Given the description of an element on the screen output the (x, y) to click on. 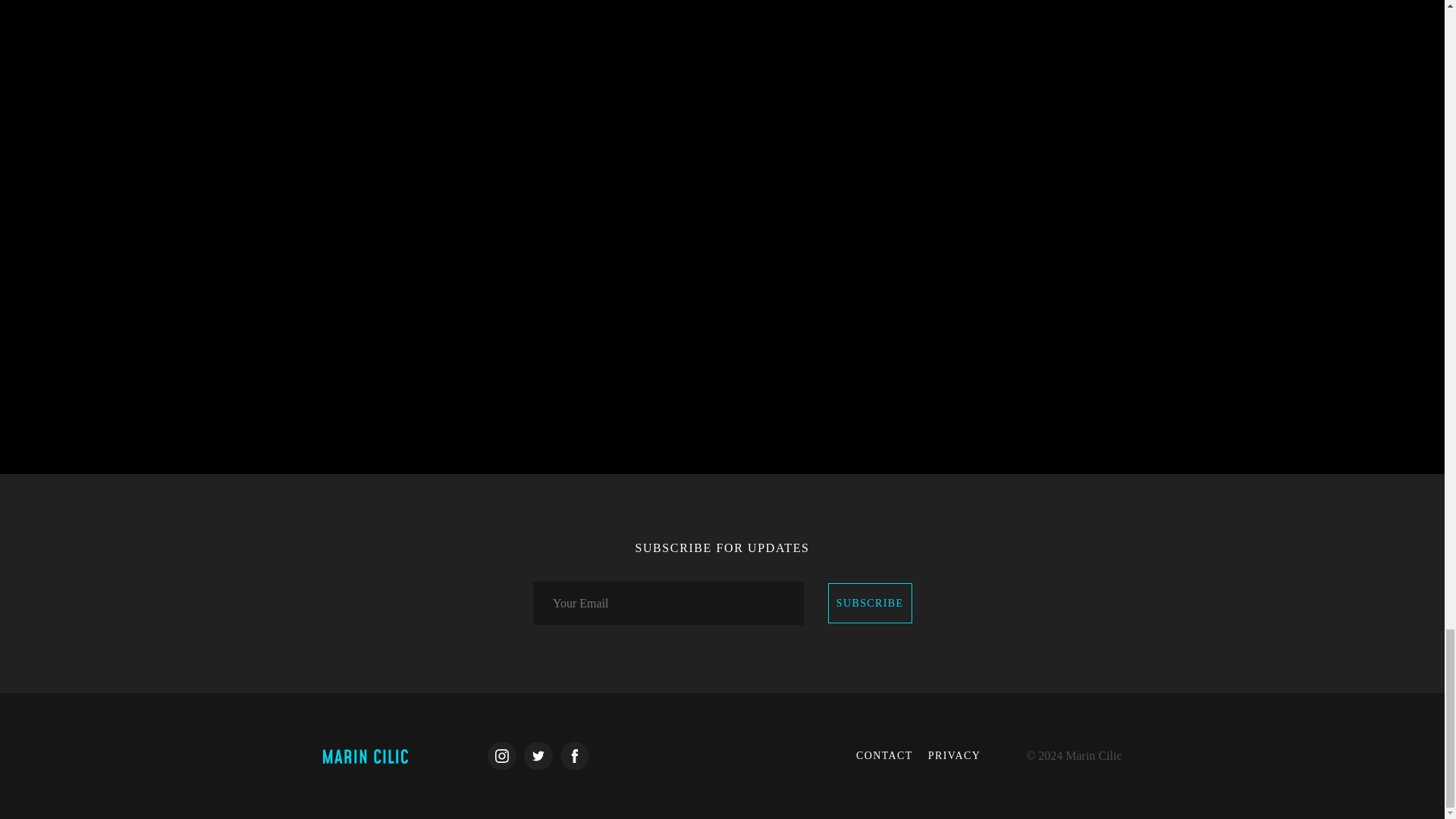
SUBSCRIBE (870, 603)
CONTACT (884, 756)
PRIVACY (953, 756)
